Given the description of an element on the screen output the (x, y) to click on. 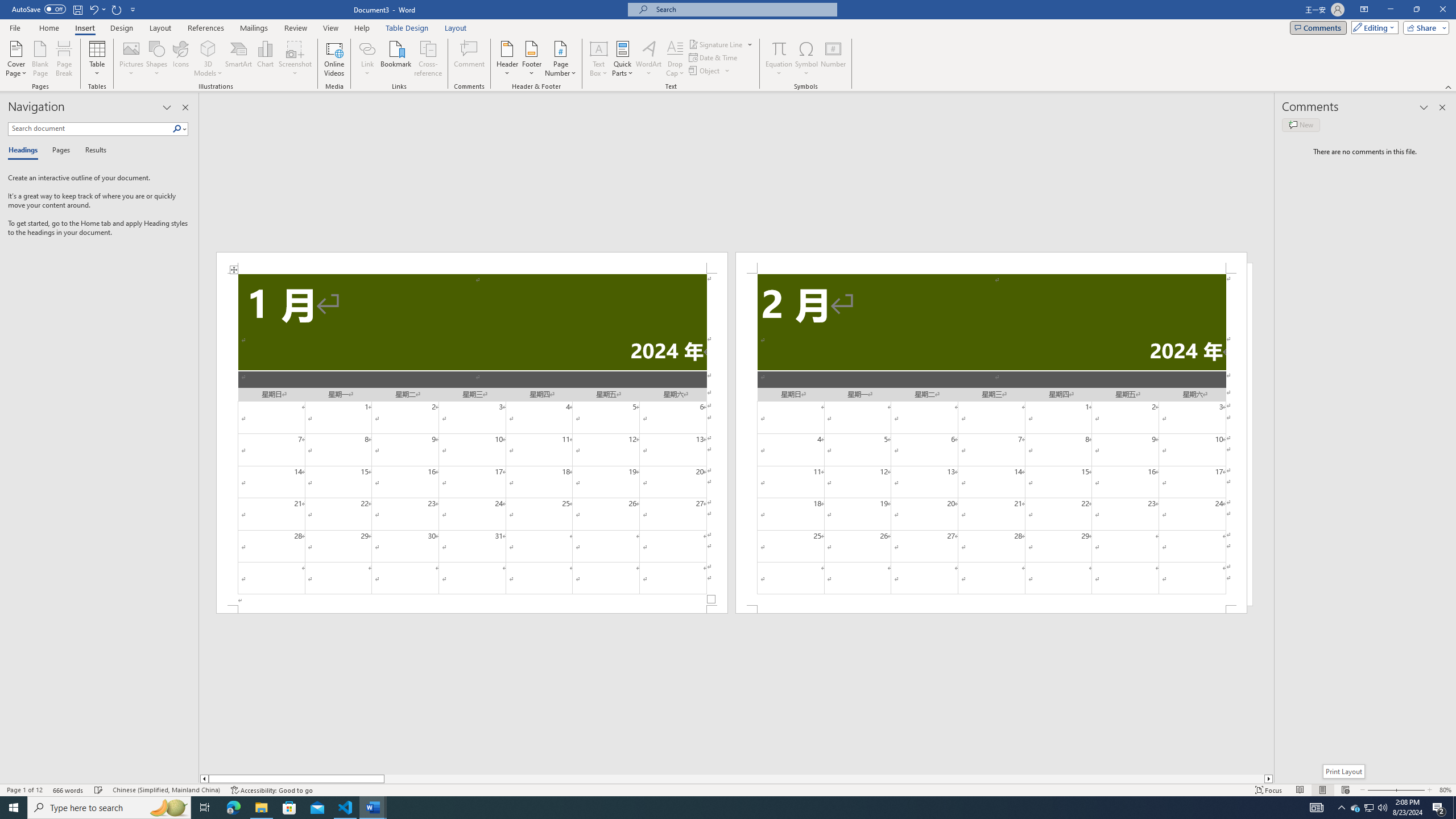
Close (1442, 9)
Zoom Out (1378, 790)
Table (97, 58)
Drop Cap (674, 58)
Blank Page (40, 58)
Print Layout (1322, 790)
3D Models (208, 48)
Shapes (156, 58)
WordArt (648, 58)
Task Pane Options (167, 107)
Cover Page (16, 58)
Undo Increase Indent (96, 9)
Page Number Page 1 of 12 (24, 790)
Footer (531, 58)
